Given the description of an element on the screen output the (x, y) to click on. 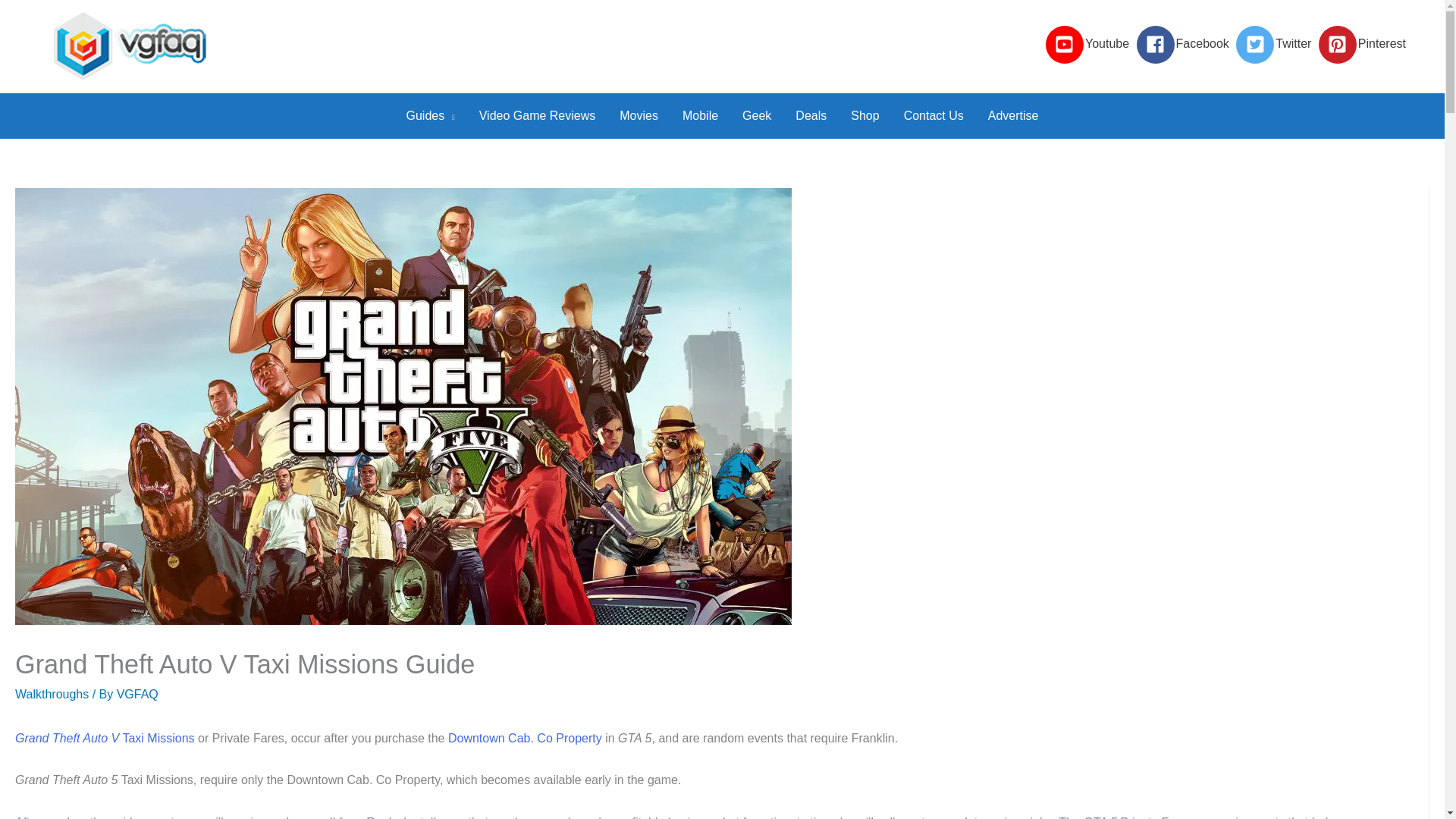
Guides (430, 115)
Twitter (1275, 44)
Pinterest (1362, 44)
Facebook (1185, 44)
Movies (638, 115)
View all posts by VGFAQ (137, 694)
Youtube (1088, 44)
Contact Us (933, 115)
Deals (810, 115)
Mobile (699, 115)
Geek (756, 115)
Video Game Reviews (537, 115)
Shop (864, 115)
